Given the description of an element on the screen output the (x, y) to click on. 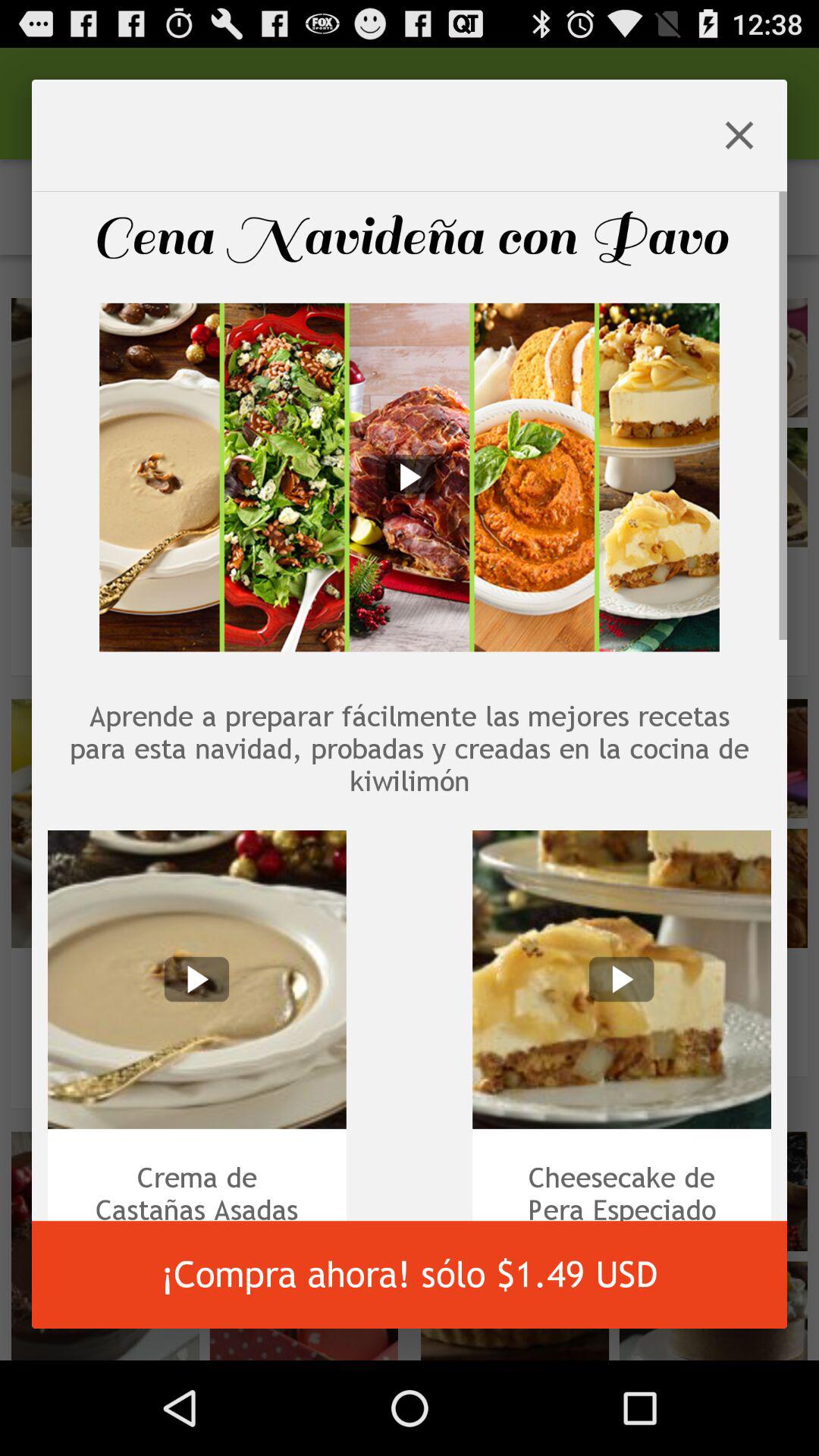
choose icon at the bottom (409, 1274)
